Given the description of an element on the screen output the (x, y) to click on. 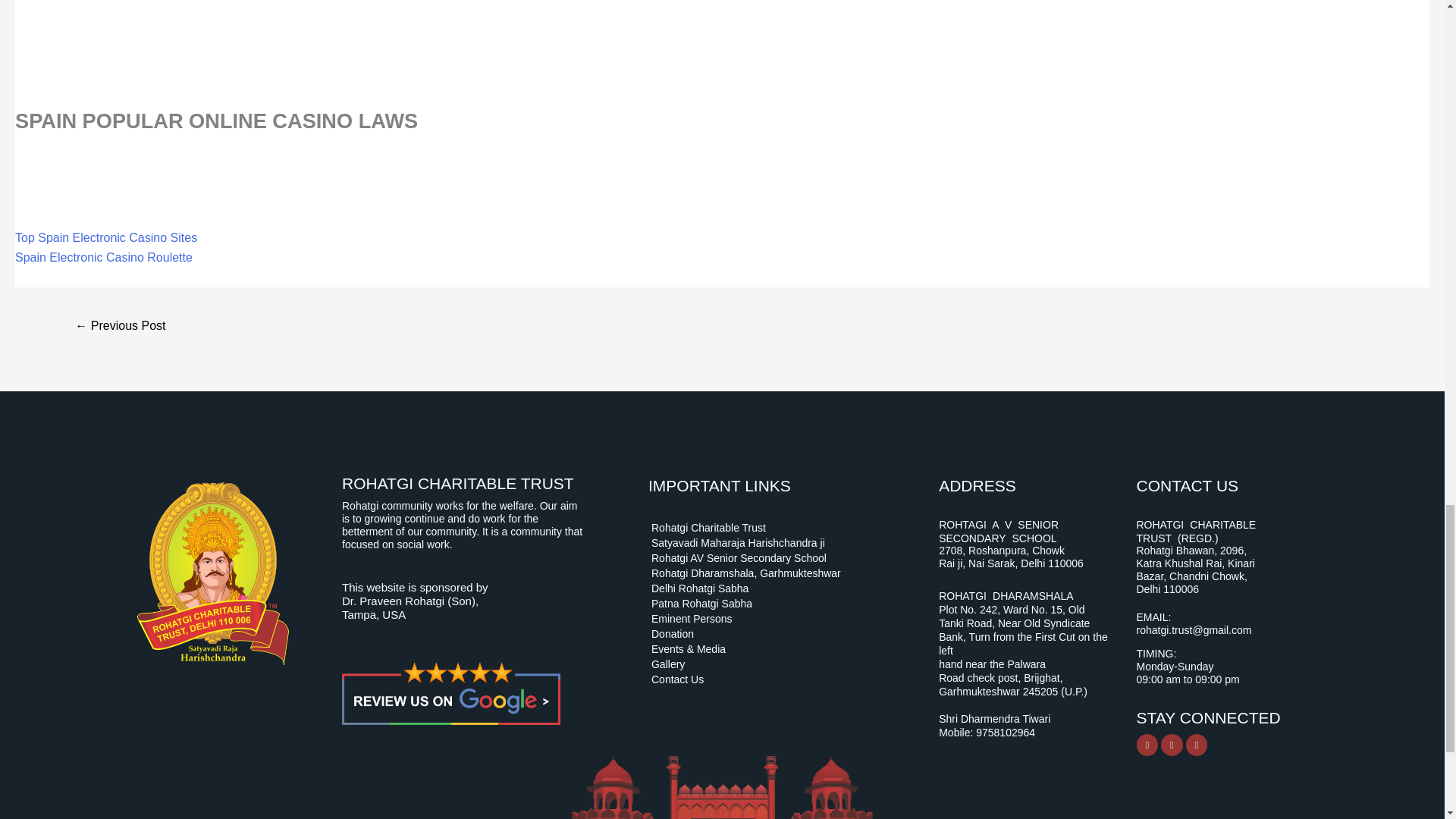
Hello world! (119, 326)
